Given the description of an element on the screen output the (x, y) to click on. 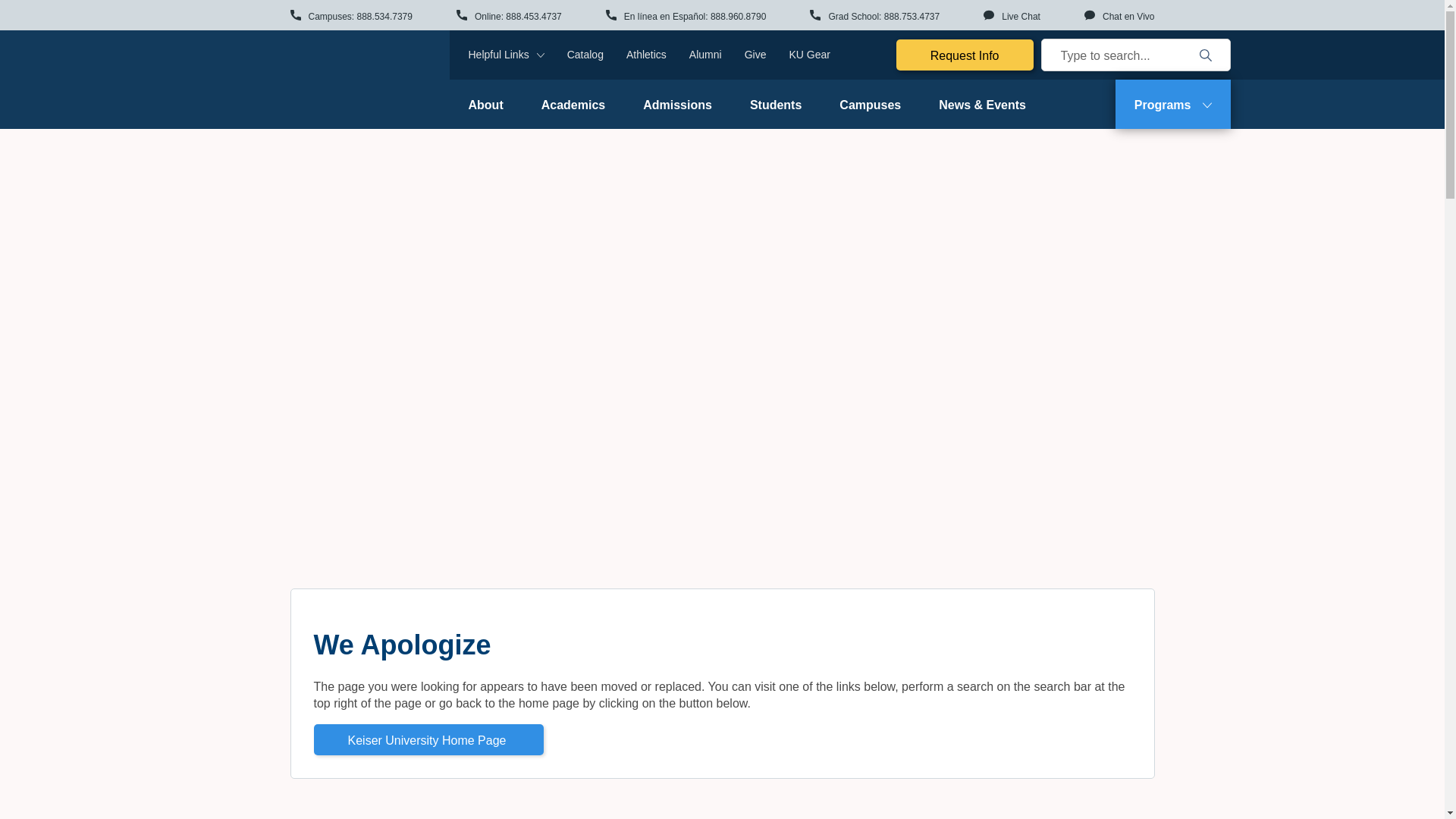
Catalog (585, 54)
Live Chat (1012, 15)
Grad School: 888.753.4737 (874, 15)
Chat en Vivo (1119, 15)
Alumni (705, 54)
Campuses: 888.534.7379 (350, 15)
Give (755, 54)
Chat en Vivo (1119, 15)
Online: 888.453.4737 (509, 15)
Request Info (964, 54)
Helpful Links (506, 55)
About (484, 103)
Grad School: 888.753.4737 (874, 15)
Campuses: 888.534.7379 (350, 15)
KU Gear (809, 54)
